Given the description of an element on the screen output the (x, y) to click on. 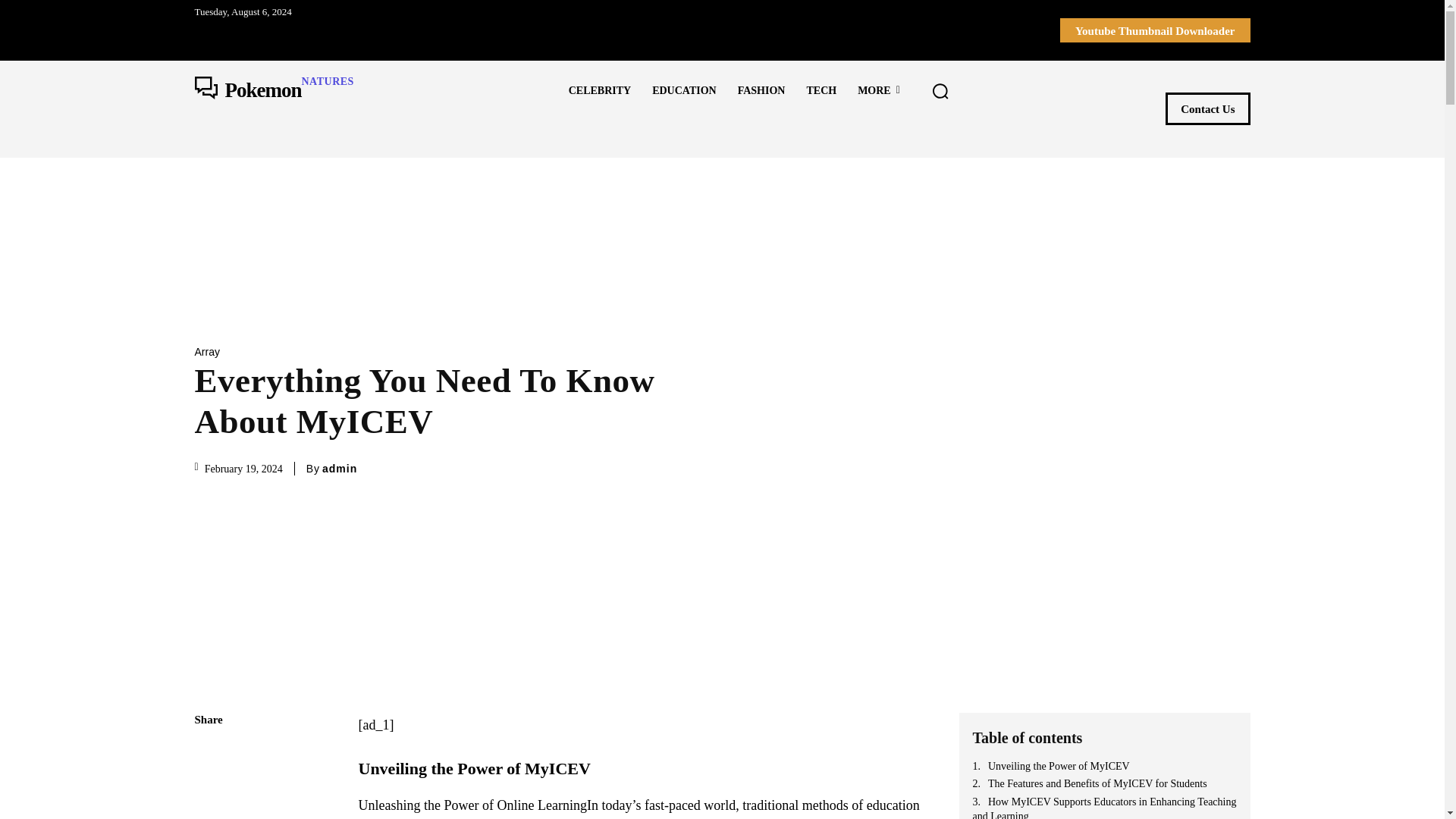
EDUCATION (684, 90)
admin (273, 90)
Contact Us (338, 468)
Youtube Thumbnail Downloader (1207, 108)
MORE (1154, 30)
CELEBRITY (879, 90)
FASHION (599, 90)
Contact Us (761, 90)
Youtube Thumbnail Downloader (1207, 108)
